Given the description of an element on the screen output the (x, y) to click on. 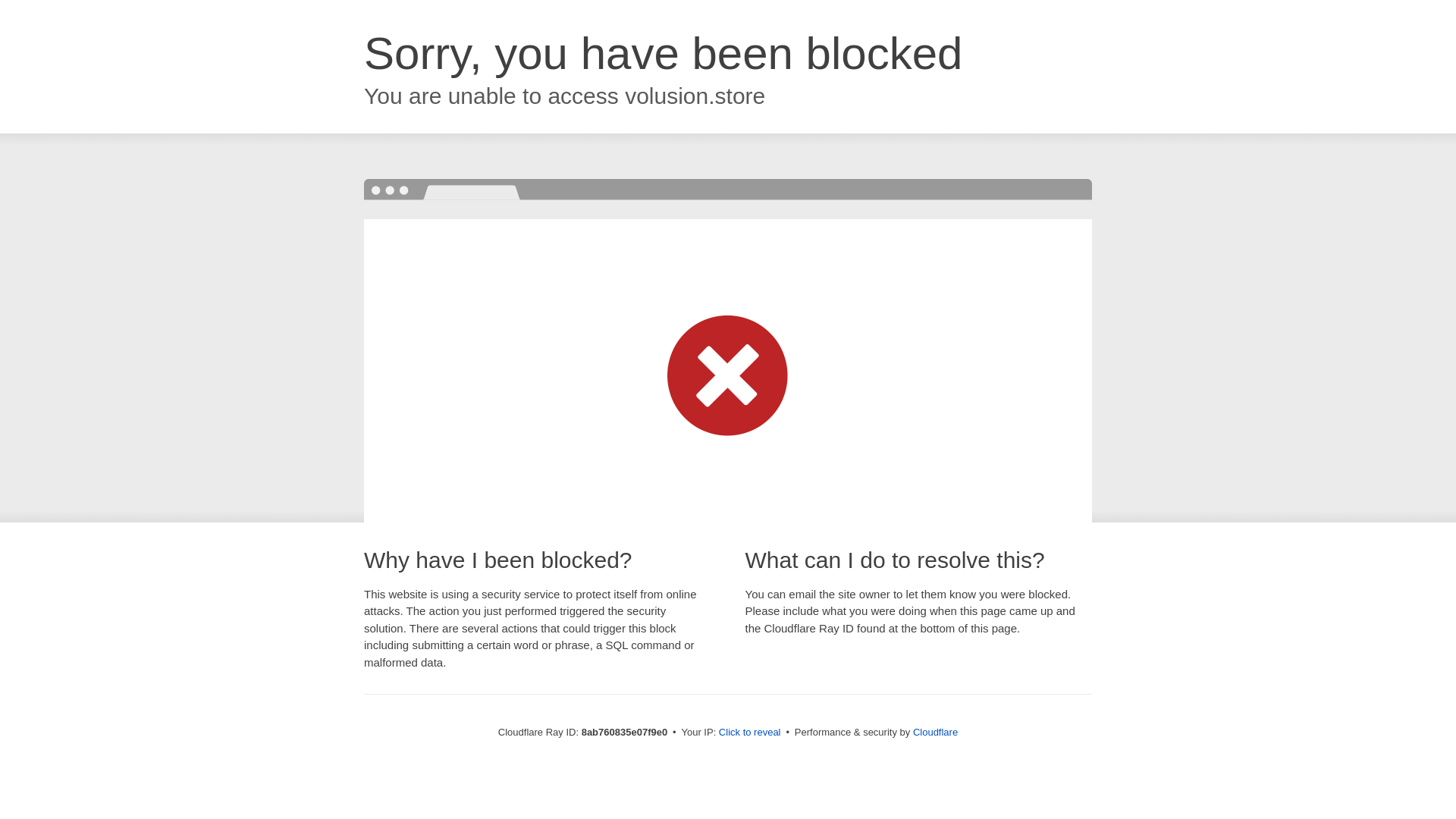
Cloudflare (935, 731)
Click to reveal (749, 732)
